Given the description of an element on the screen output the (x, y) to click on. 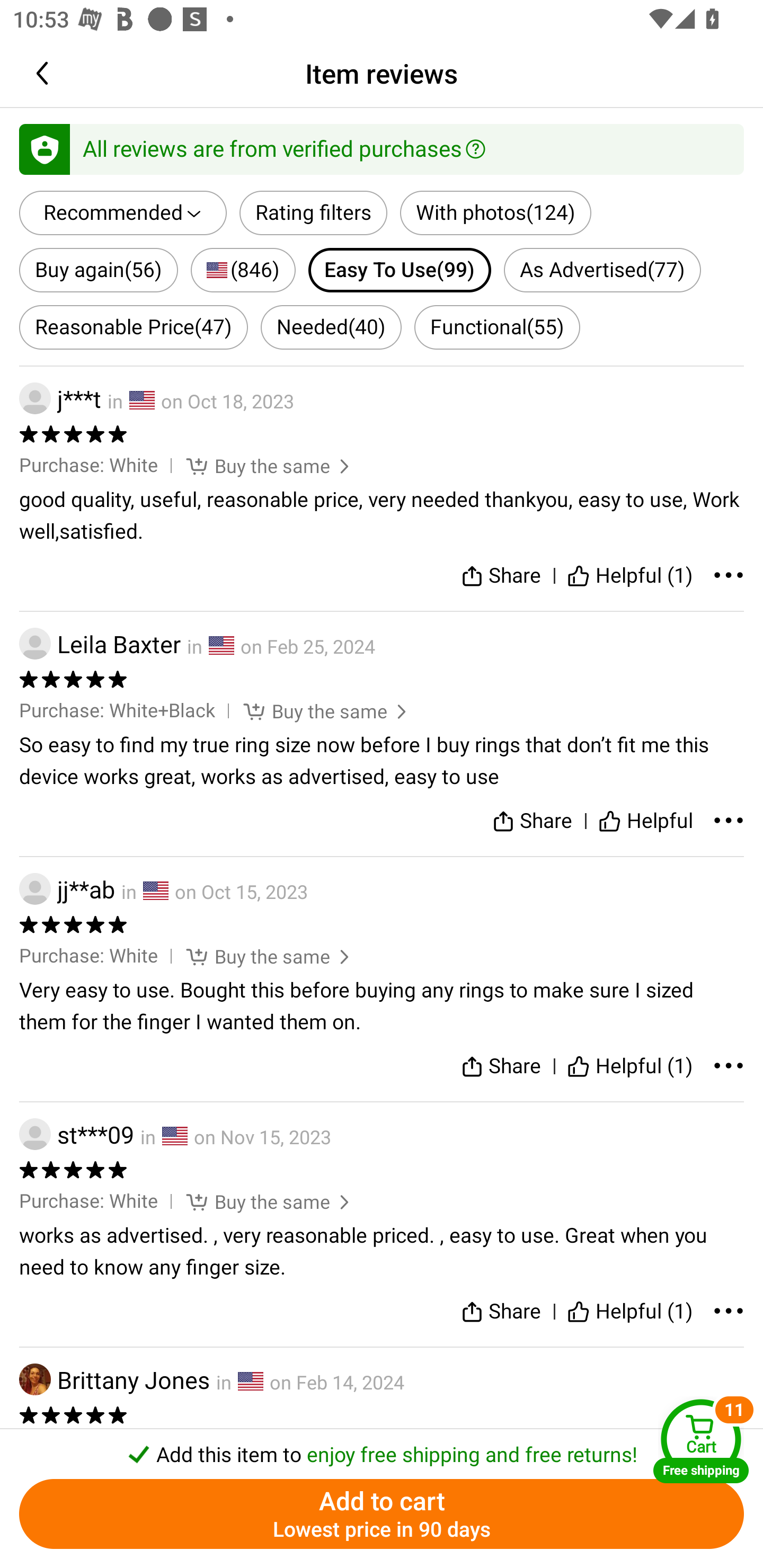
All reviews are from verified purchases  (381, 148)
Recommended (122, 213)
Rating filters (313, 213)
With photos(124) (495, 213)
Buy again(56) (98, 269)
(846) (243, 269)
Easy To Use(99) (399, 269)
As Advertised(77) (602, 269)
Reasonable Price(47) (133, 327)
Needed(40) (330, 327)
Functional(55) (496, 327)
j***t (60, 398)
   Buy the same   (255, 465)
Free returns￼Price adjustment (381, 517)
  Share (500, 576)
  Helpful (1) (629, 576)
Leila Baxter (99, 643)
   Buy the same   (313, 709)
  Share (532, 820)
  Helpful (645, 820)
jj**ab (67, 888)
   Buy the same   (255, 956)
  Share (500, 1065)
  Helpful (1) (629, 1065)
st***09 (76, 1133)
   Buy the same   (255, 1200)
  Share (500, 1311)
  Helpful (1) (629, 1311)
Brittany Jones (114, 1379)
Cart Free shipping Cart (701, 1440)
Add to cart Lowest price in 90 days (381, 1513)
